Given the description of an element on the screen output the (x, y) to click on. 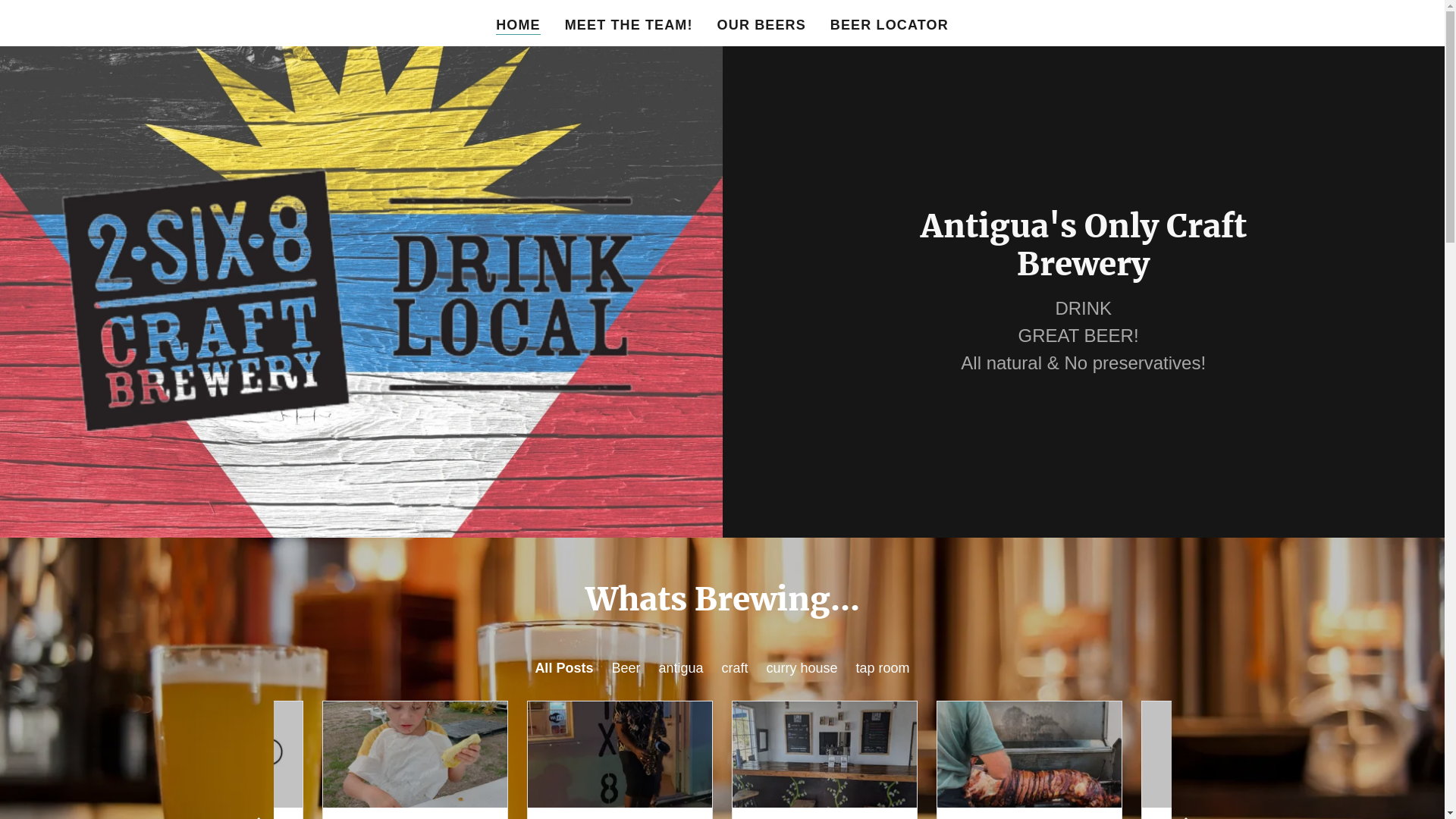
All Posts Element type: text (563, 667)
OUR BEERS Element type: text (761, 24)
MEET THE TEAM! Element type: text (628, 24)
Beer Element type: text (625, 667)
antigua Element type: text (680, 667)
curry house Element type: text (801, 667)
HOME Element type: text (517, 24)
tap room Element type: text (883, 667)
craft Element type: text (734, 667)
BEER LOCATOR Element type: text (889, 24)
